Given the description of an element on the screen output the (x, y) to click on. 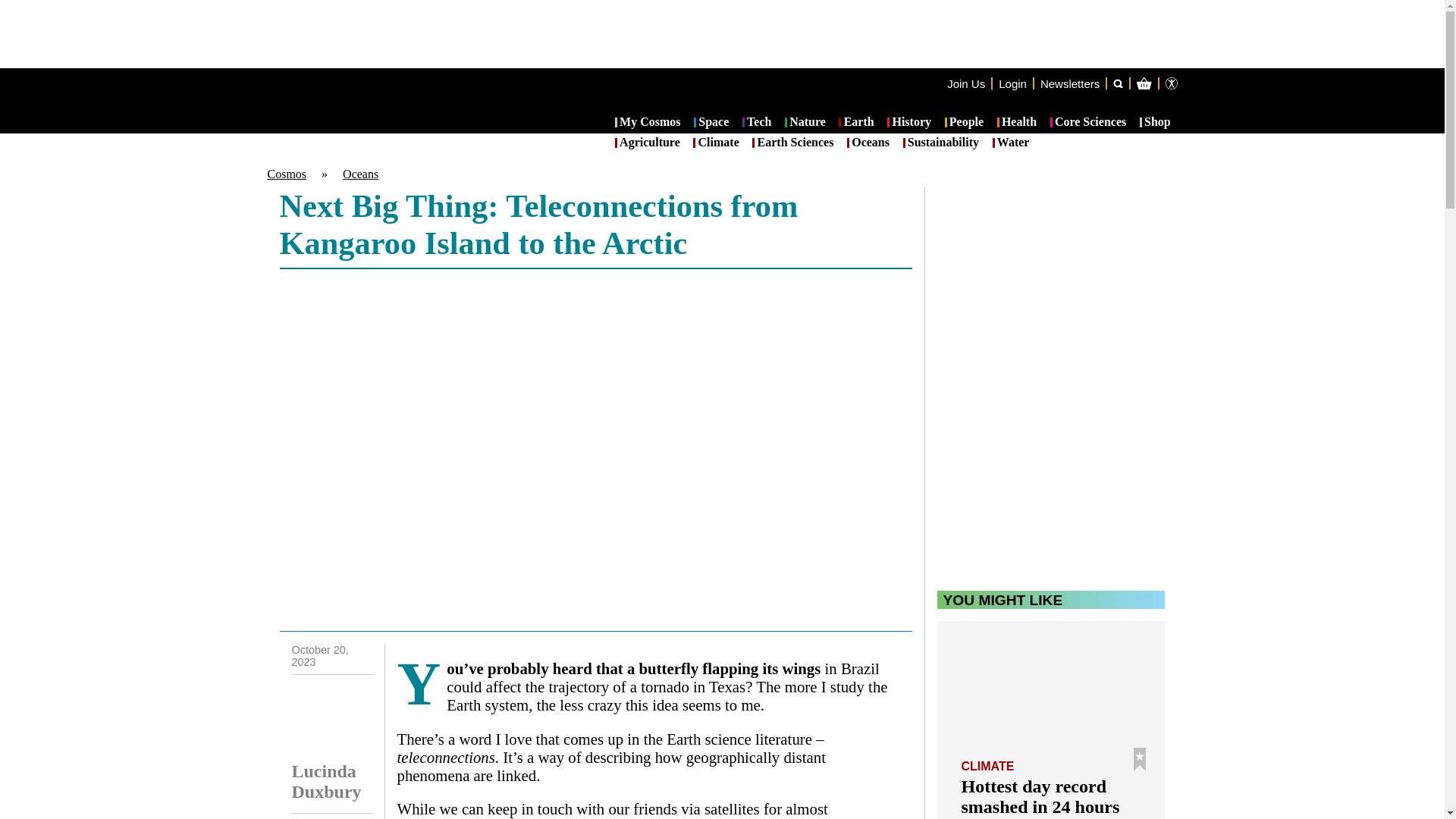
Tech (756, 122)
Cart (1223, 144)
Agriculture (646, 143)
People (964, 122)
Login (1012, 82)
Health (1016, 122)
Accessibility Tools (1170, 82)
Water (1010, 143)
Cosmos (285, 173)
My Cosmos (647, 122)
Climate (715, 143)
Earth (855, 122)
Sustainability (940, 143)
Space (711, 122)
Oceans (360, 173)
